Given the description of an element on the screen output the (x, y) to click on. 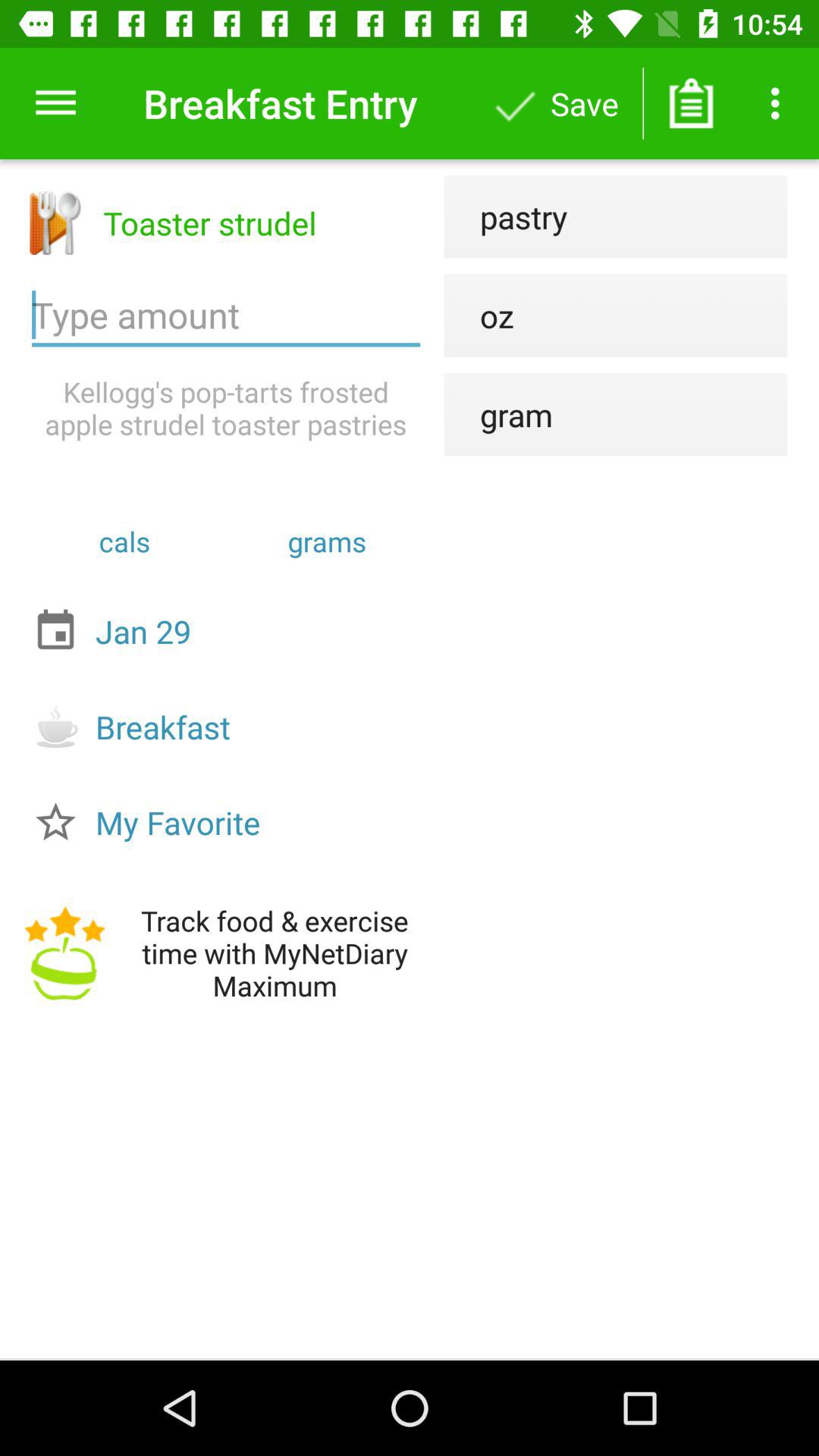
scroll to the   pastry icon (505, 216)
